Given the description of an element on the screen output the (x, y) to click on. 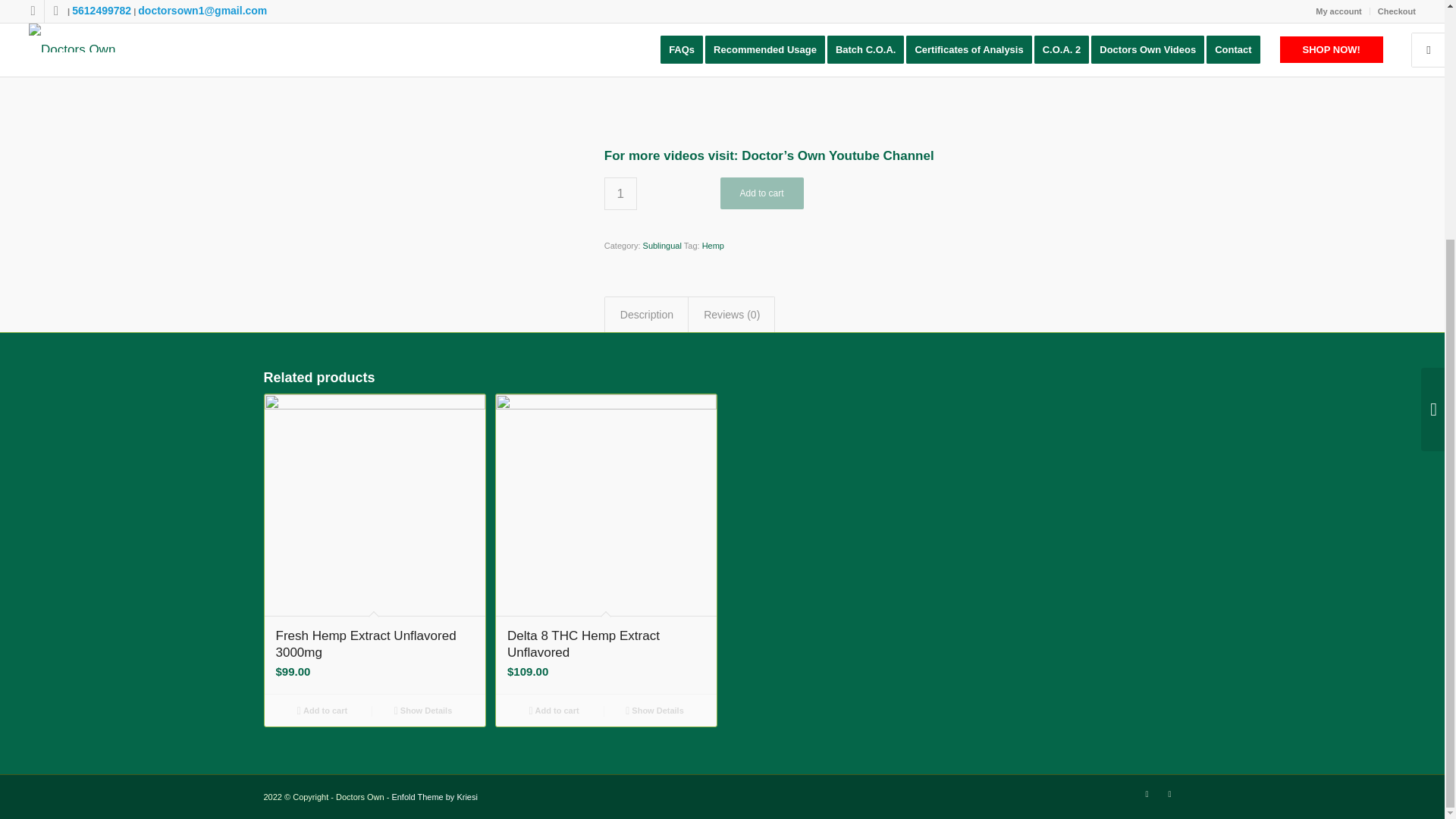
Youtube (1169, 793)
YouTube video player (816, 63)
Go to Doctor's Own Youtube Channel (837, 155)
Facebook (1146, 793)
1 (620, 193)
